Given the description of an element on the screen output the (x, y) to click on. 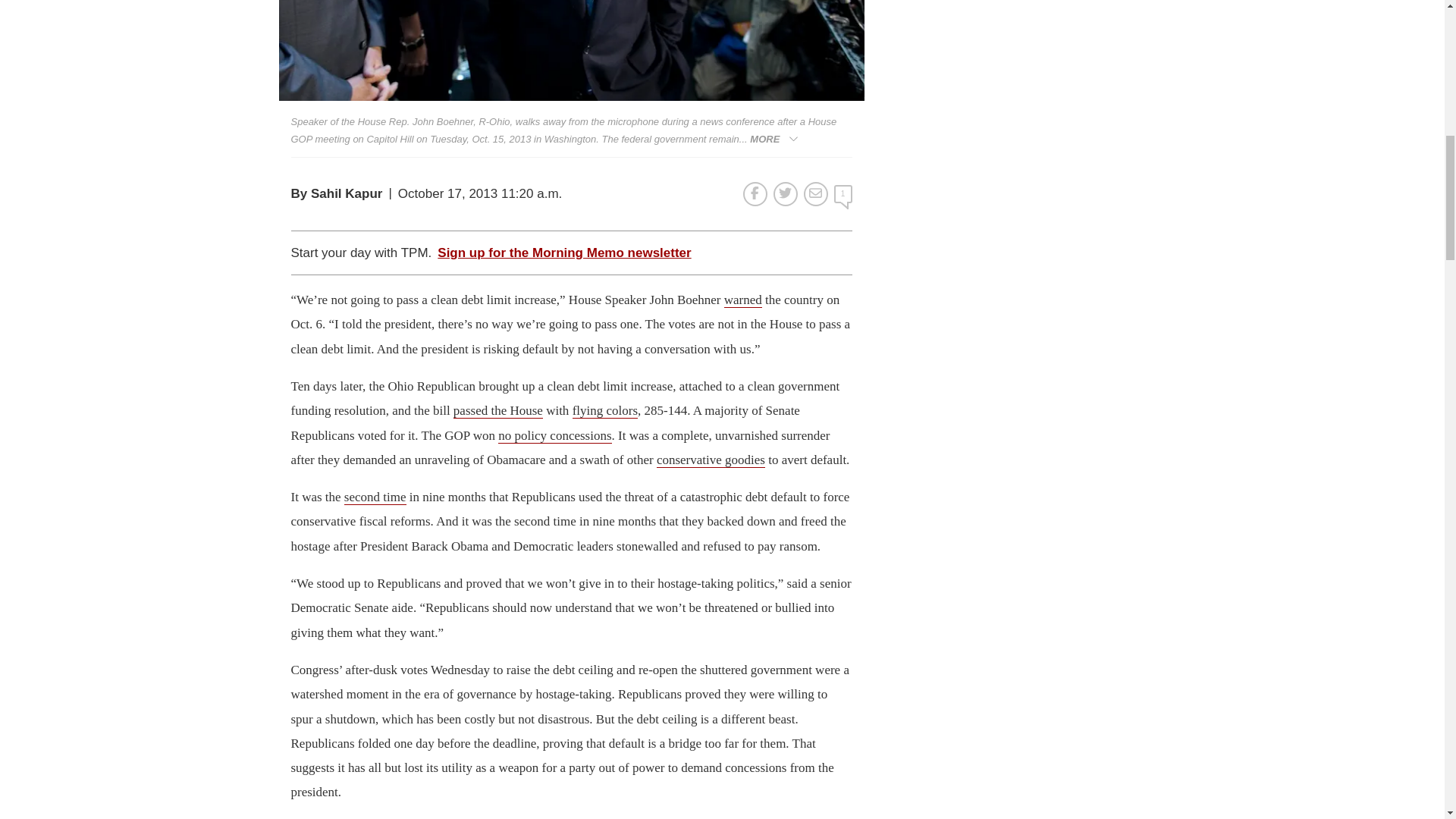
Become a member (686, 245)
Sign up for the Morning Memo newsletter (564, 252)
Read our mission (456, 245)
1 (842, 194)
